Given the description of an element on the screen output the (x, y) to click on. 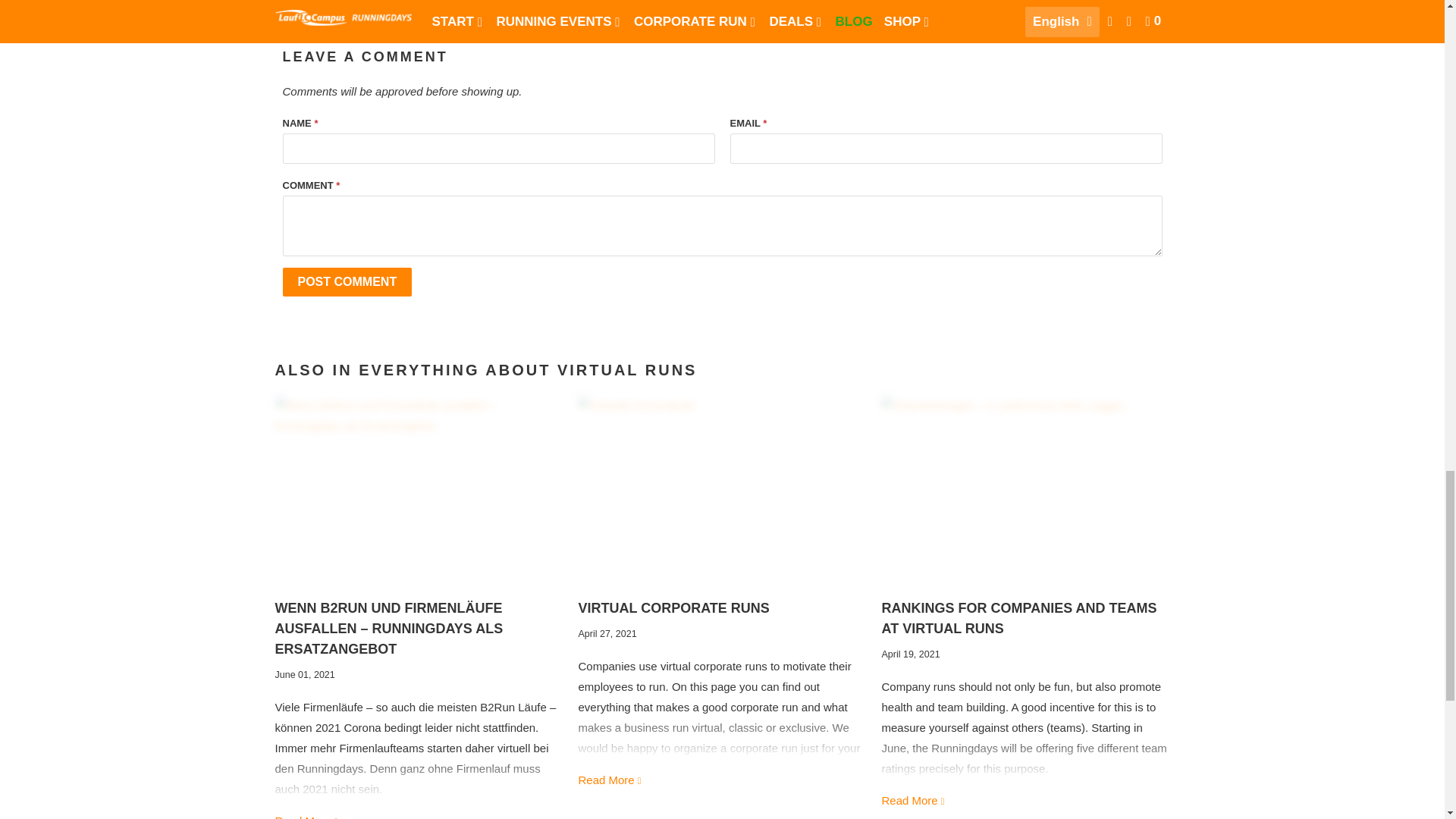
Rankings for companies and teams at virtual runs (1024, 490)
Virtual Corporate Runs (673, 607)
Rankings for companies and teams at virtual runs (1018, 618)
Virtual Corporate Runs (722, 490)
Virtual Corporate Runs (610, 779)
Post comment (347, 281)
